Given the description of an element on the screen output the (x, y) to click on. 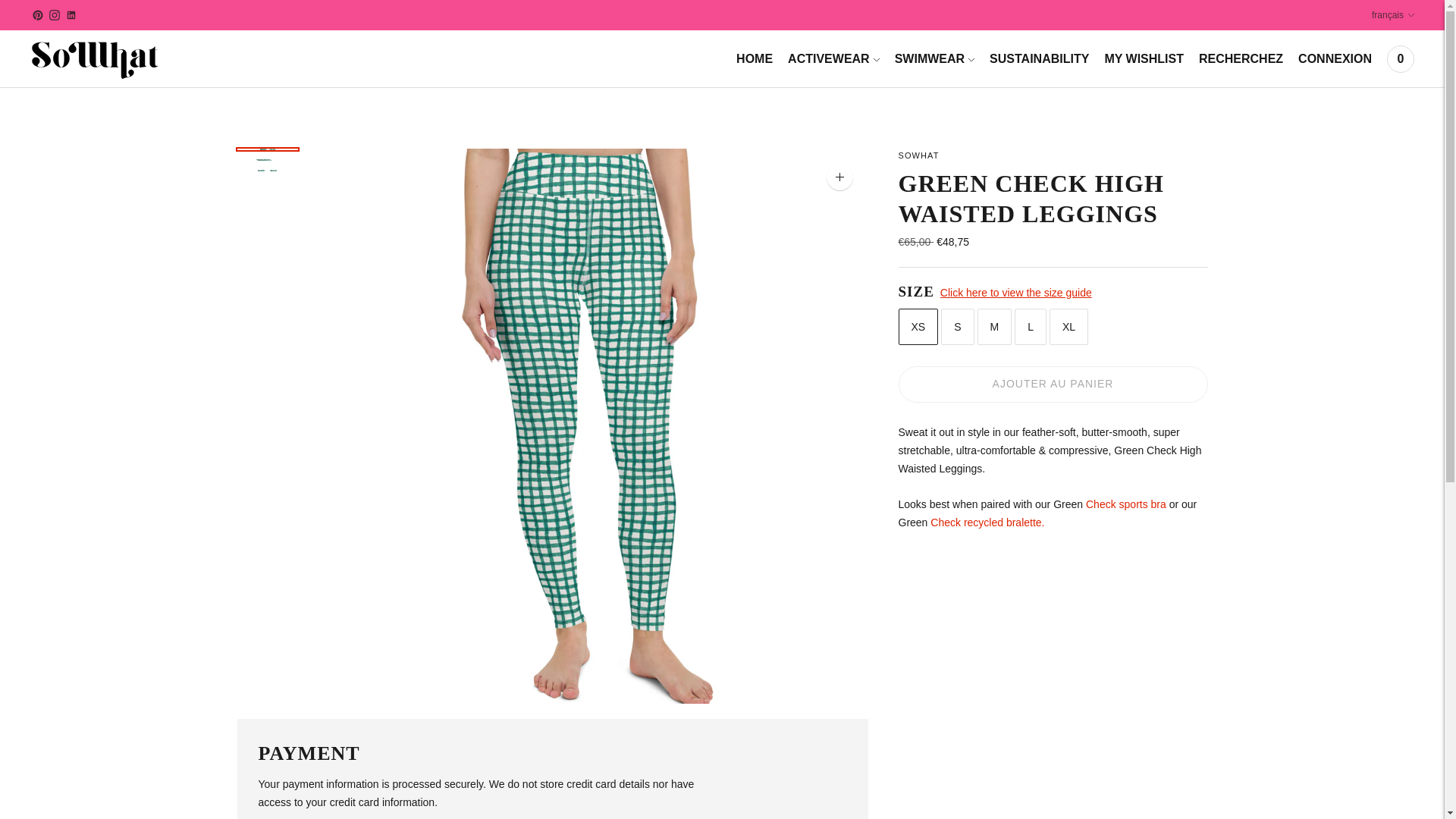
SoWhat (918, 154)
HOME (754, 59)
Green Check Recycled Bralette (986, 522)
SoWhat sur Instagram (54, 14)
SoWhat sur LinkedIn, (71, 14)
ACTIVEWEAR (833, 59)
Green Check Sports Bra (1126, 503)
SoWhat sur Pinterest (37, 14)
